Given the description of an element on the screen output the (x, y) to click on. 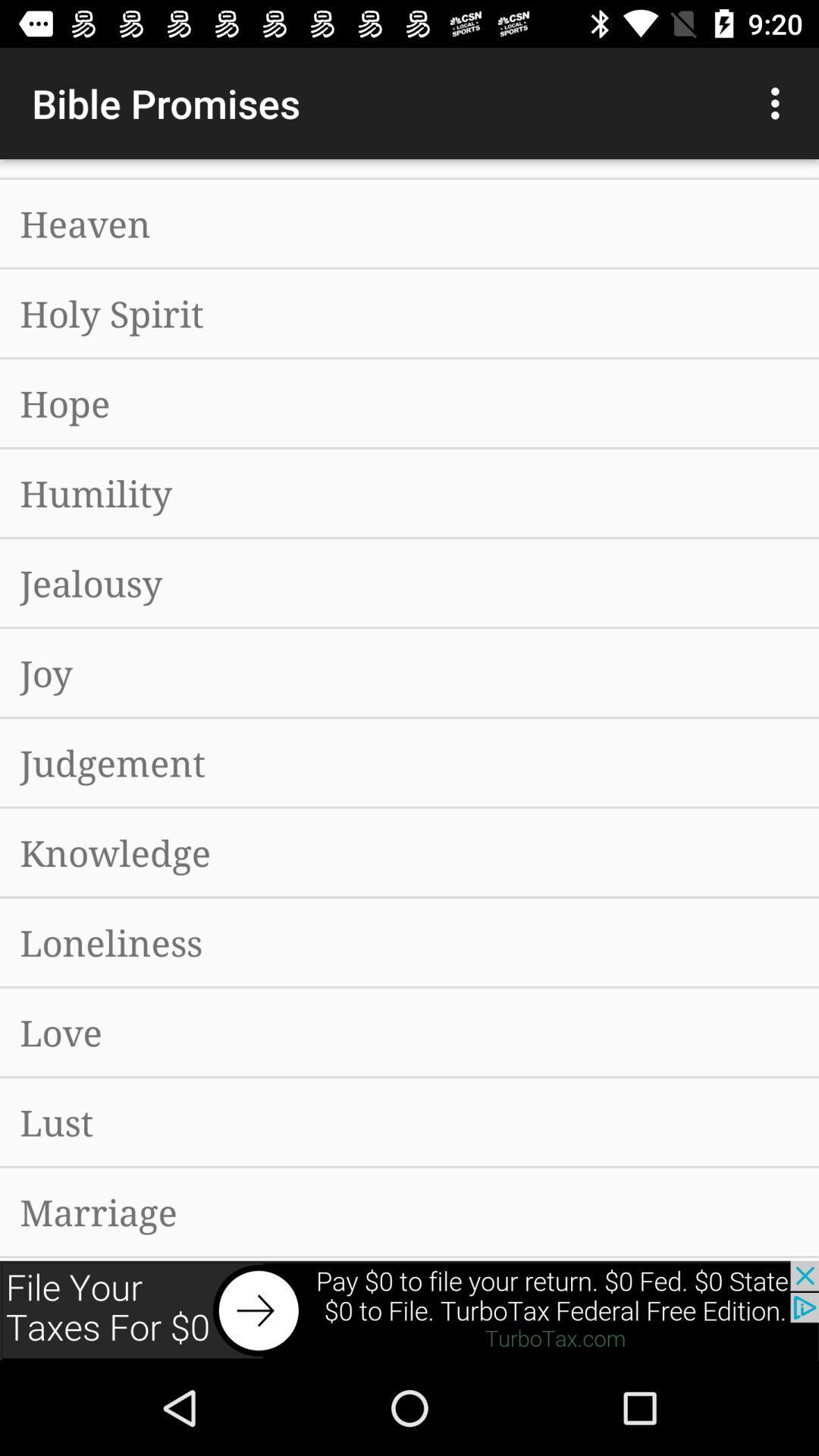
open advertisement (409, 1310)
